Given the description of an element on the screen output the (x, y) to click on. 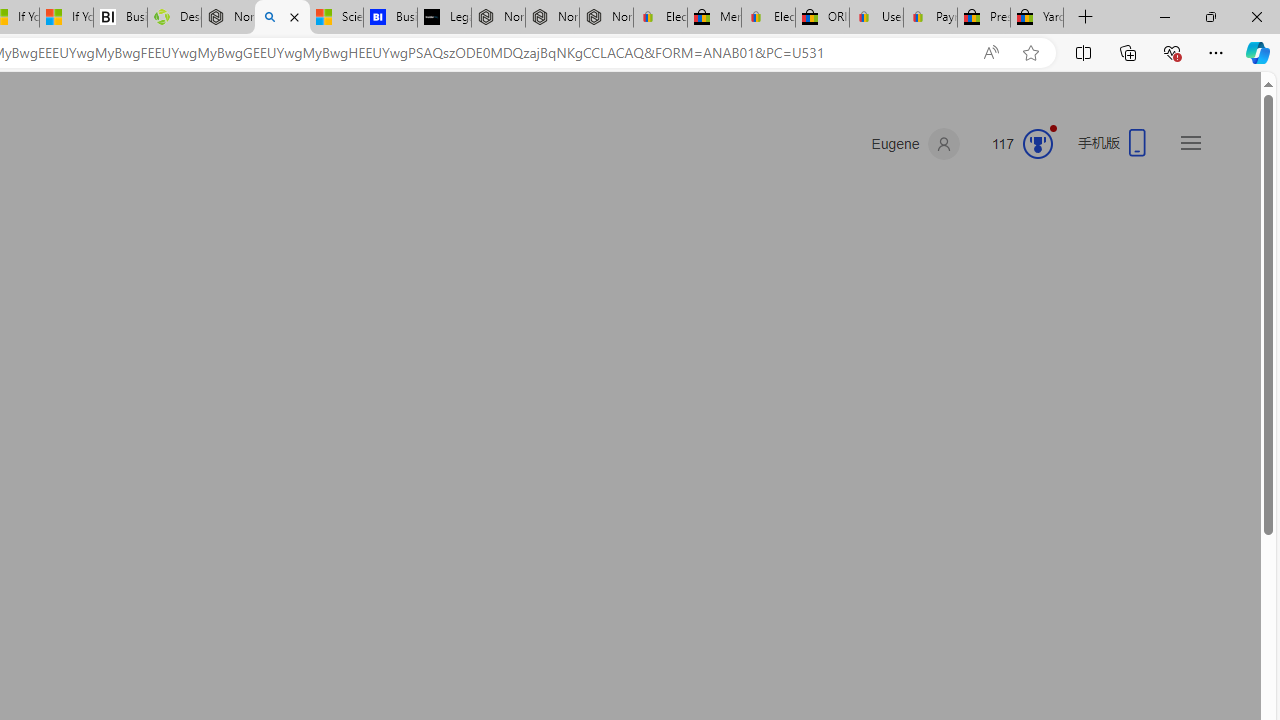
User Privacy Notice | eBay (875, 17)
alabama high school quarterback dies - Search (282, 17)
Payments Terms of Use | eBay.com (930, 17)
